Given the description of an element on the screen output the (x, y) to click on. 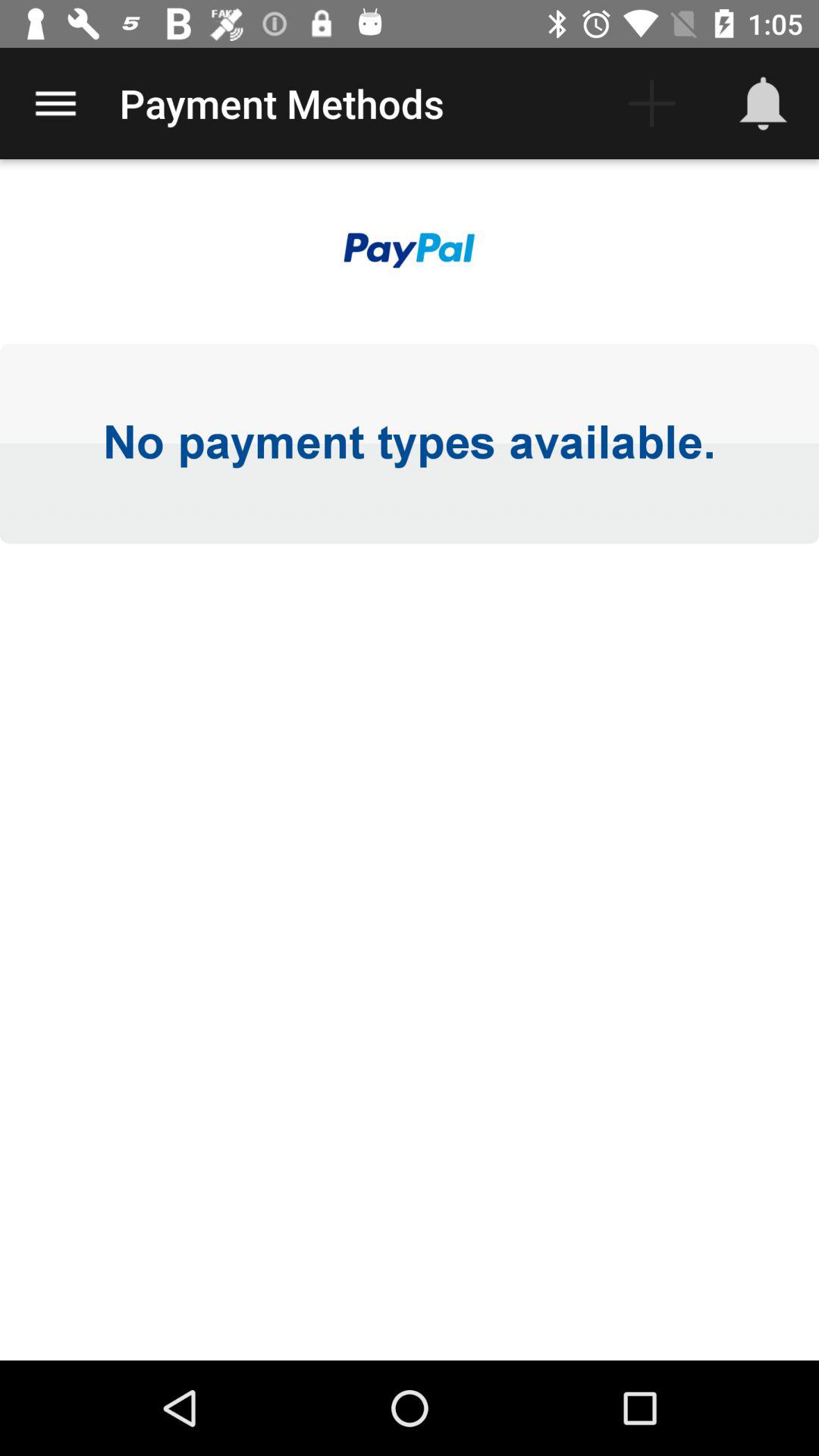
press the item to the left of the payment methods item (55, 103)
